Given the description of an element on the screen output the (x, y) to click on. 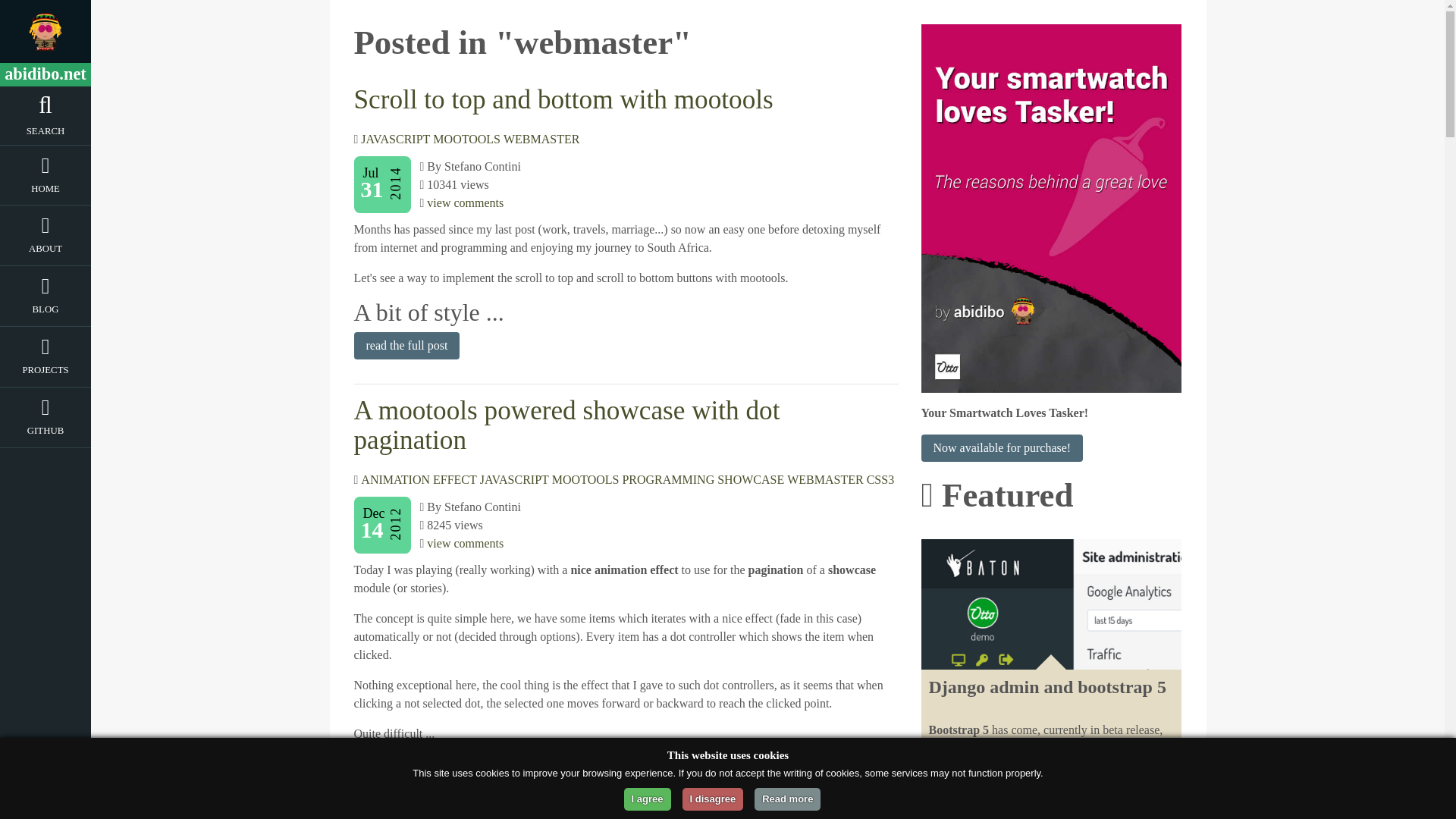
GITHUB (45, 433)
Projects (45, 373)
MOOTOOLS (585, 479)
read the full post (406, 345)
EFFECT (454, 479)
view comments (464, 543)
view comments (464, 202)
WEBMASTER (825, 479)
Scroll to top and bottom with mootools (563, 99)
ABOUT (45, 251)
Home (45, 191)
abidibo (45, 31)
SHOWCASE (750, 479)
BLOG (45, 312)
ANIMATION (395, 479)
